Given the description of an element on the screen output the (x, y) to click on. 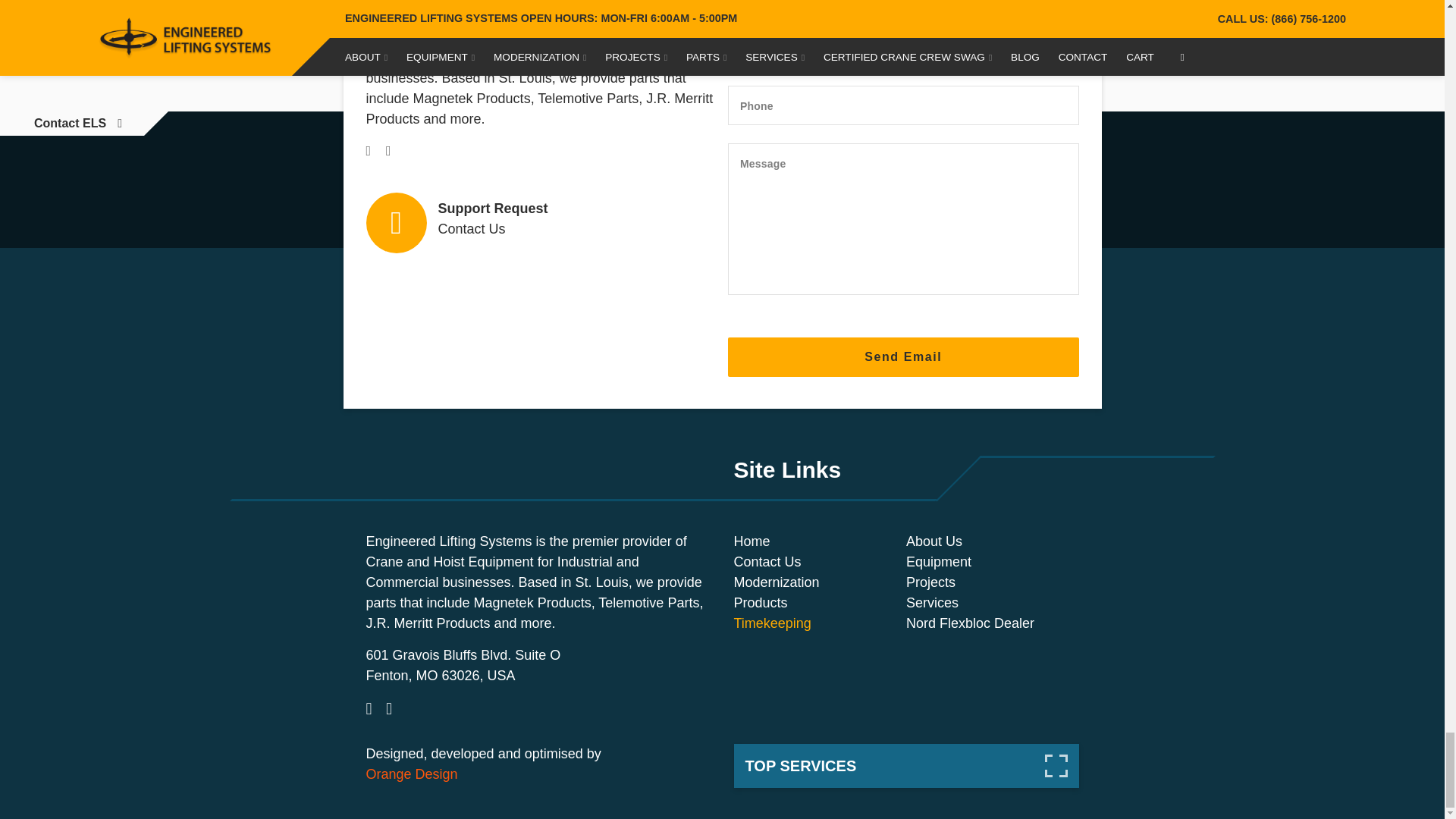
Send Email (903, 356)
